Given the description of an element on the screen output the (x, y) to click on. 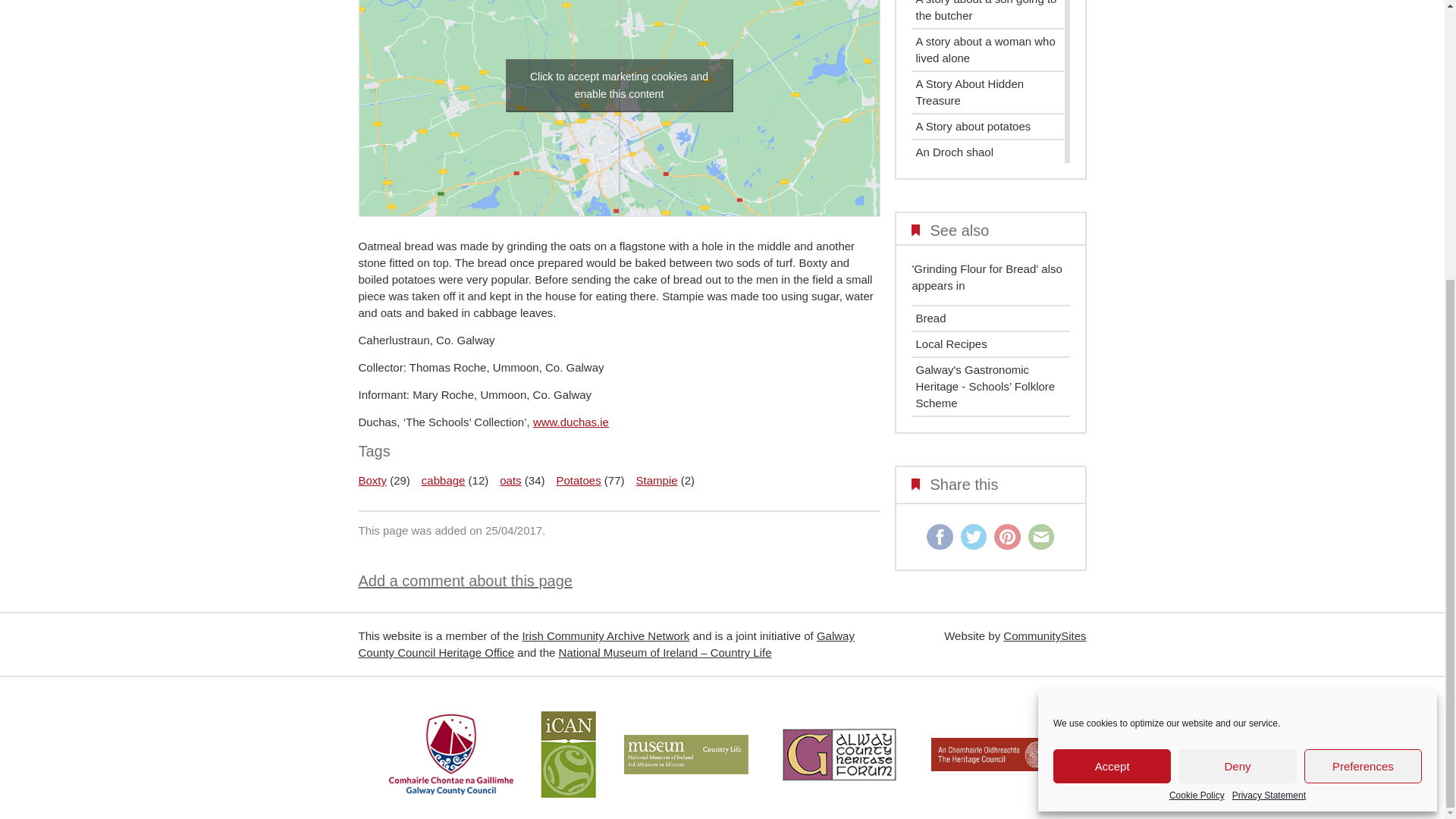
Accept (1111, 349)
Cookie Policy (1196, 378)
Deny (1236, 349)
Privacy Statement (1268, 378)
Preferences (1363, 349)
